Given the description of an element on the screen output the (x, y) to click on. 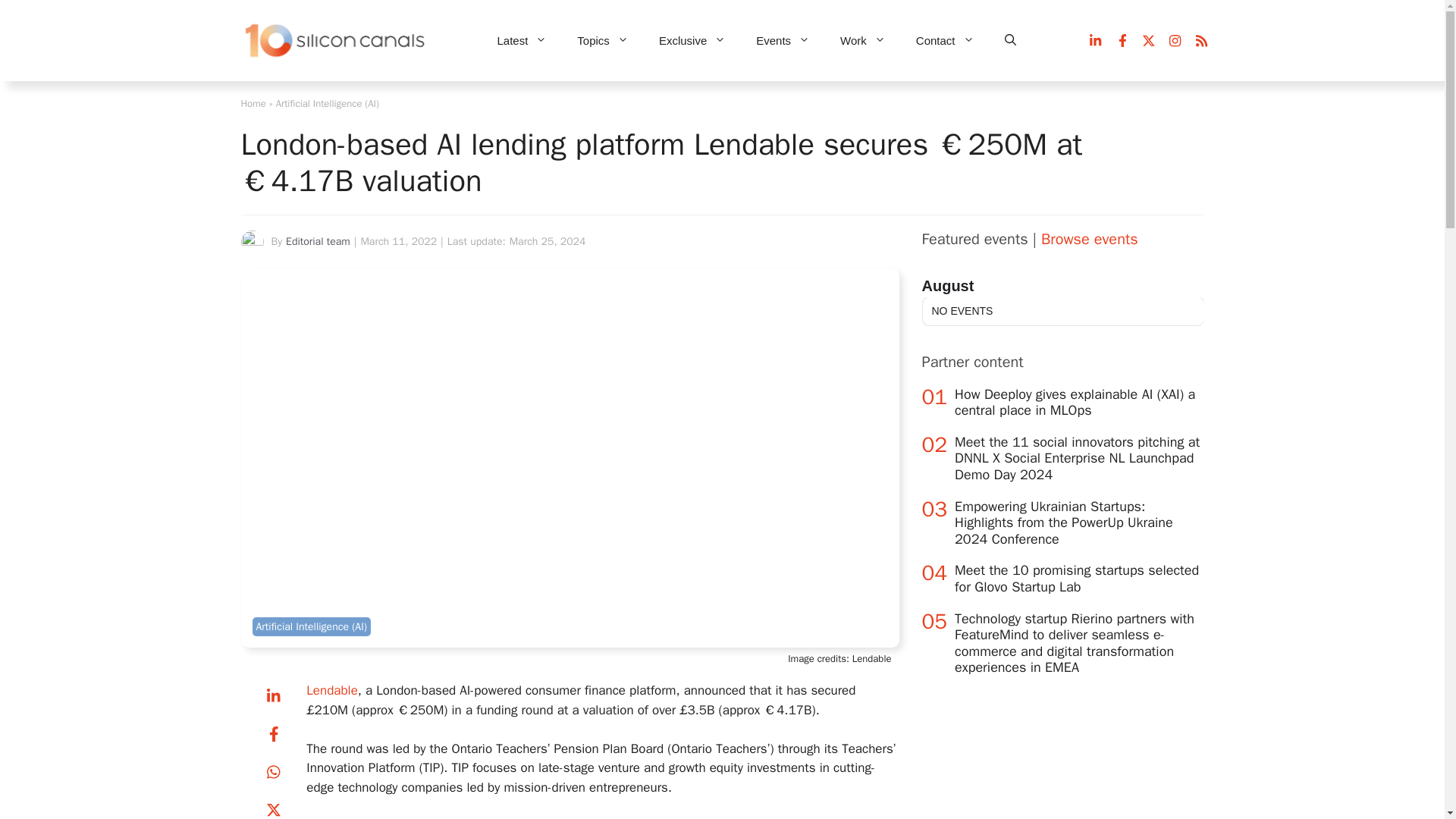
SC 10 year horizontal (335, 40)
Topics (602, 40)
Exclusive (692, 40)
Events (783, 40)
Latest (521, 40)
Work (863, 40)
